Given the description of an element on the screen output the (x, y) to click on. 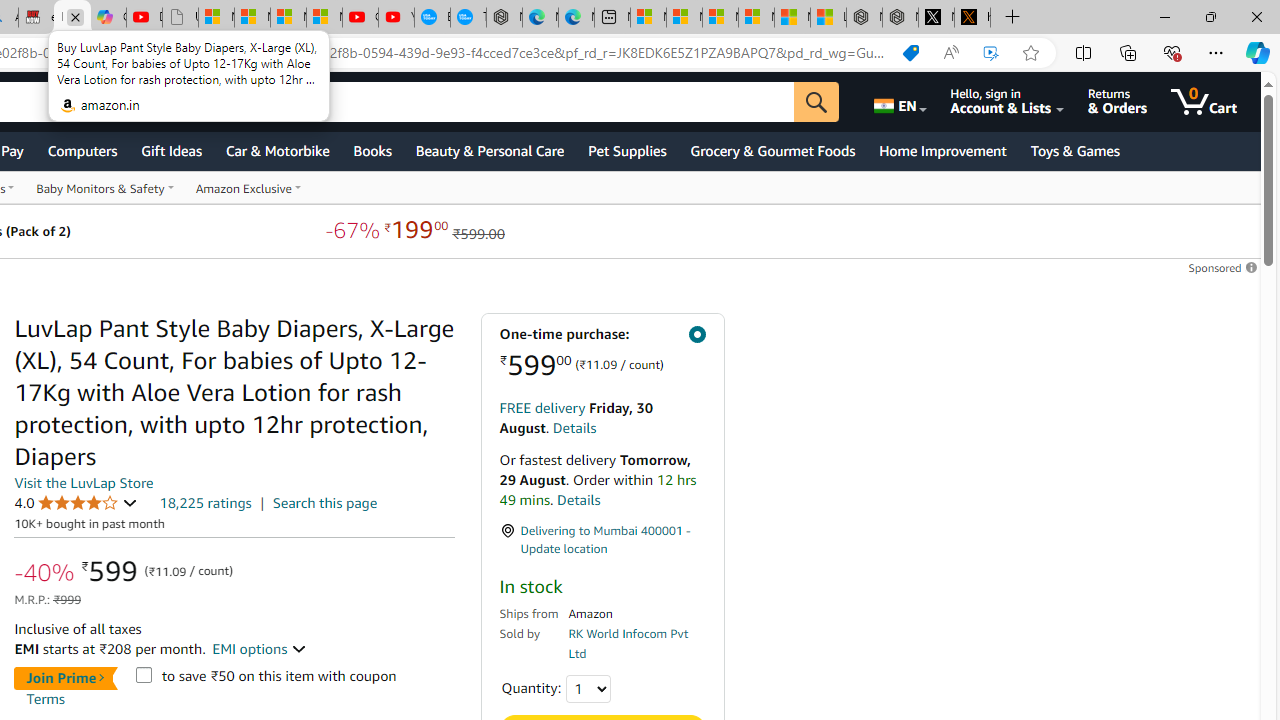
Nordace (@NordaceOfficial) / X (936, 17)
Microsoft account | Microsoft Account Privacy Settings (683, 17)
Day 1: Arriving in Yemen (surreal to be here) - YouTube (144, 17)
Microsoft account | Privacy (756, 17)
Gloom - YouTube (360, 17)
You have the best price! Shopping in Microsoft Edge (910, 53)
